Given the description of an element on the screen output the (x, y) to click on. 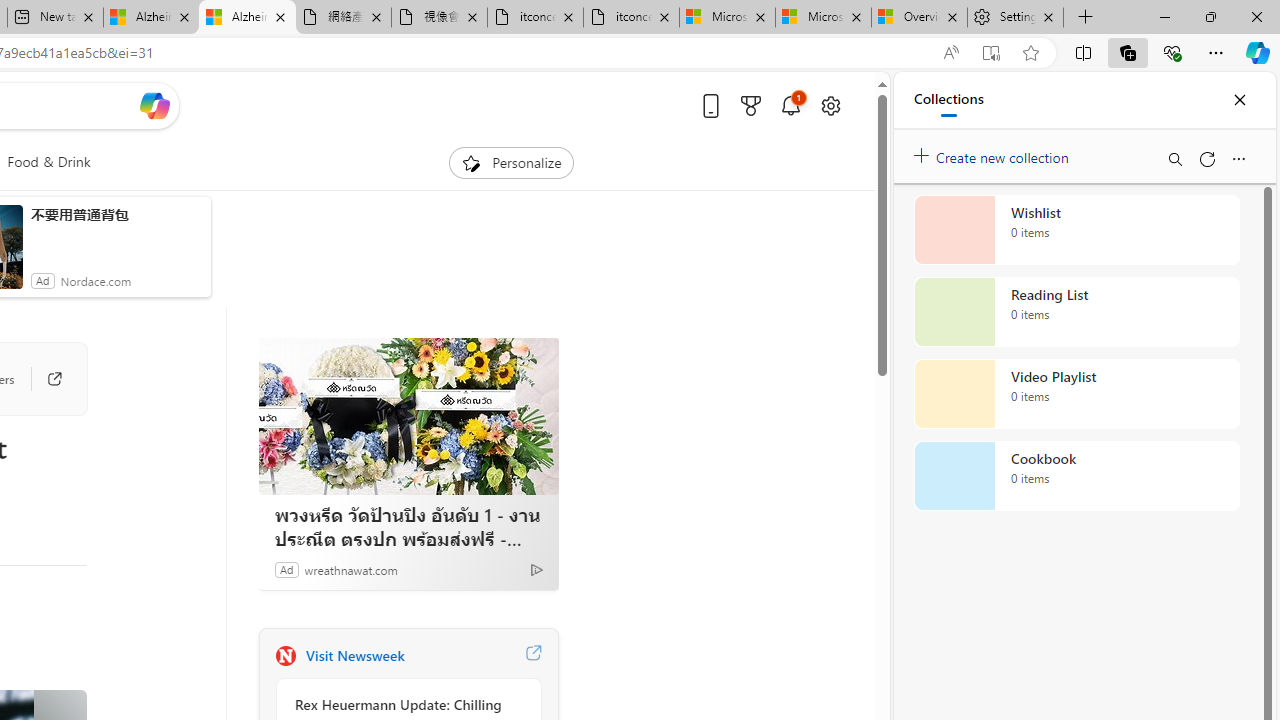
More options menu (1238, 158)
Visit Newsweek website (532, 655)
Go to publisher's site (44, 378)
Create new collection (994, 153)
